Given the description of an element on the screen output the (x, y) to click on. 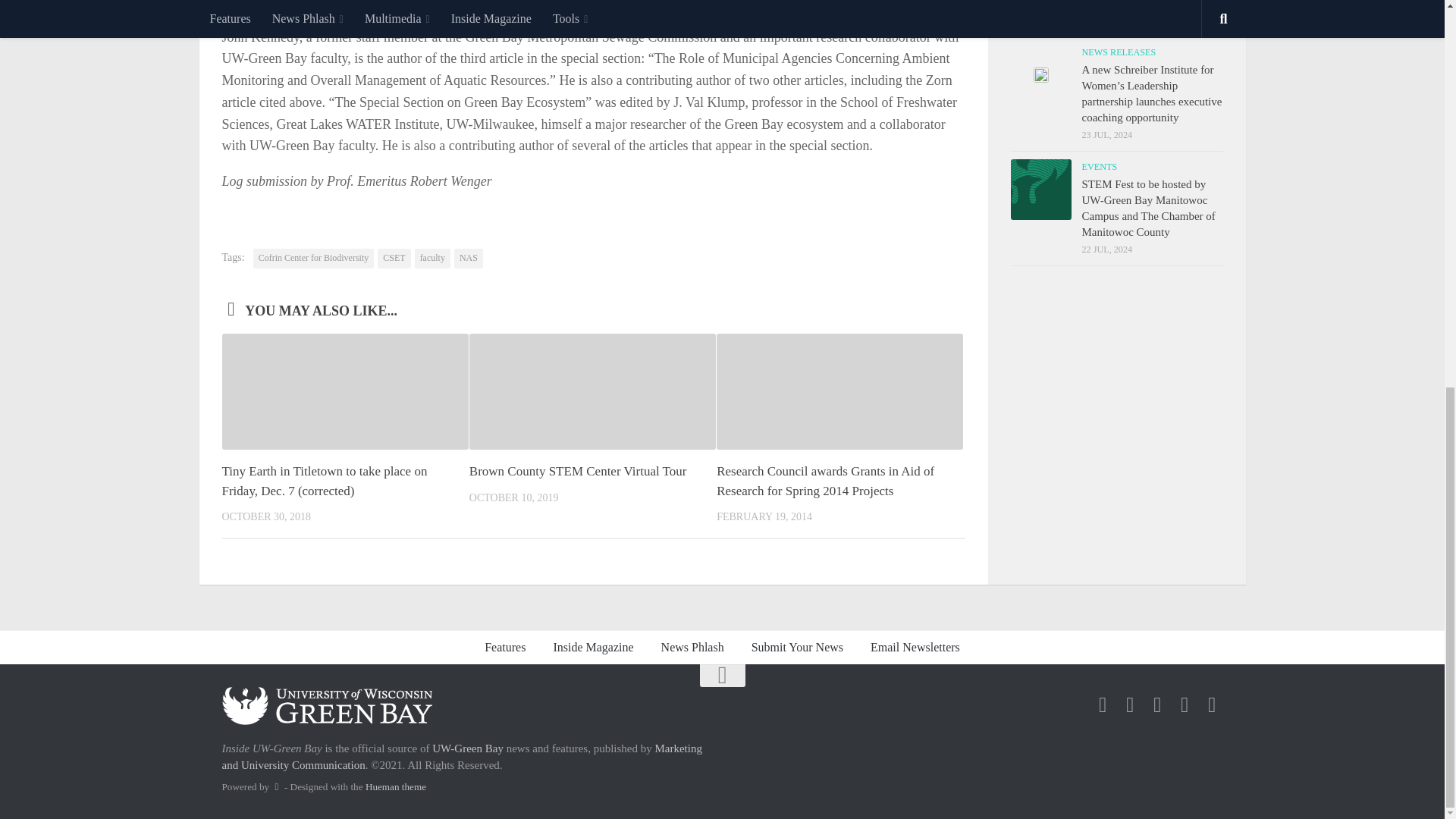
Brown County STEM Center Virtual Tour (577, 471)
NAS (468, 258)
faculty (431, 258)
CSET (393, 258)
Cofrin Center for Biodiversity (313, 258)
